Given the description of an element on the screen output the (x, y) to click on. 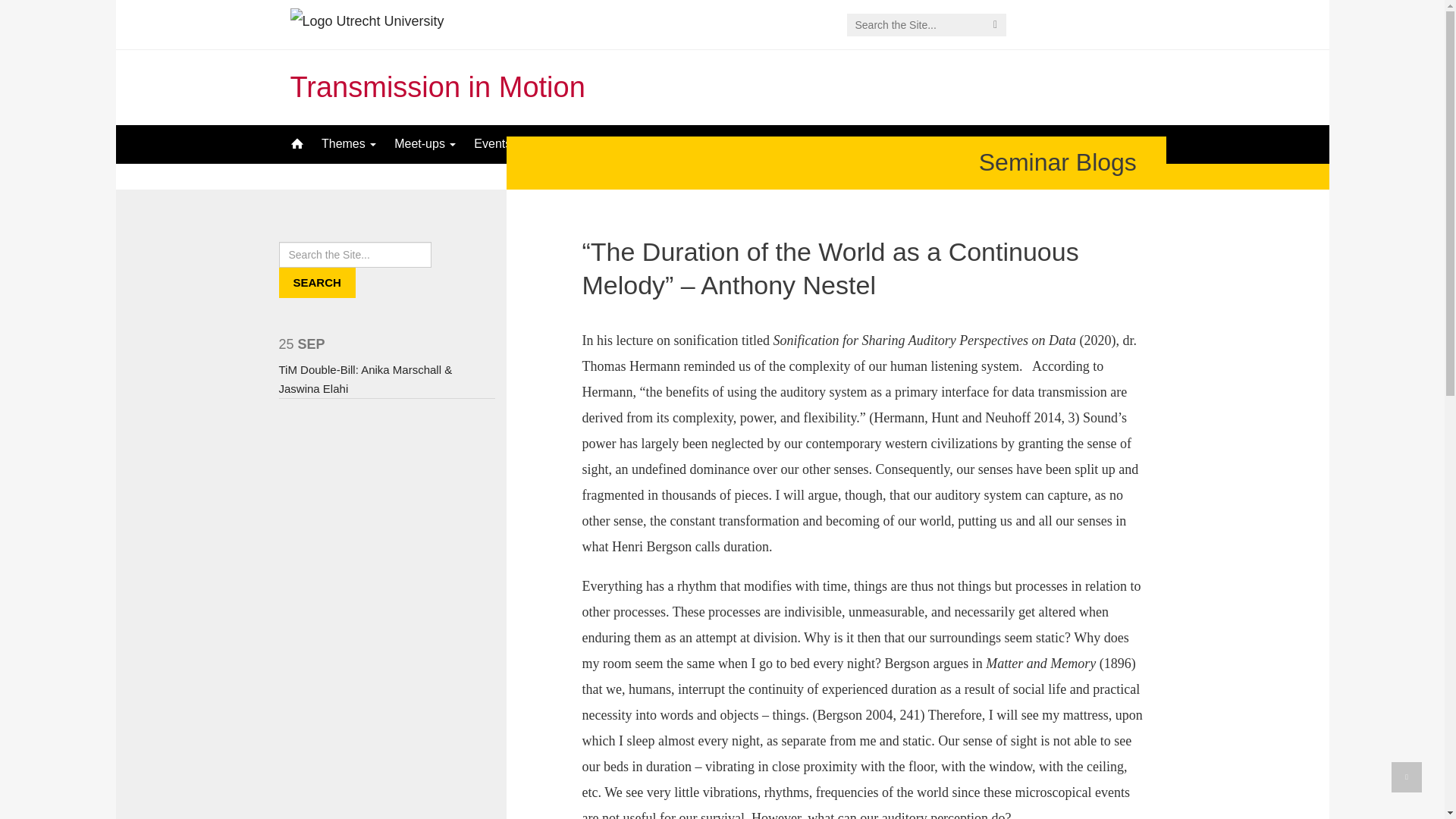
Meet-ups (424, 143)
Transmission in Motion (437, 87)
Themes (349, 143)
Events (491, 143)
Themes (349, 143)
Search (317, 282)
Transmission in Motion (437, 87)
Home (296, 144)
Meet-ups (424, 143)
Documentation (649, 143)
Projects (555, 143)
